Given the description of an element on the screen output the (x, y) to click on. 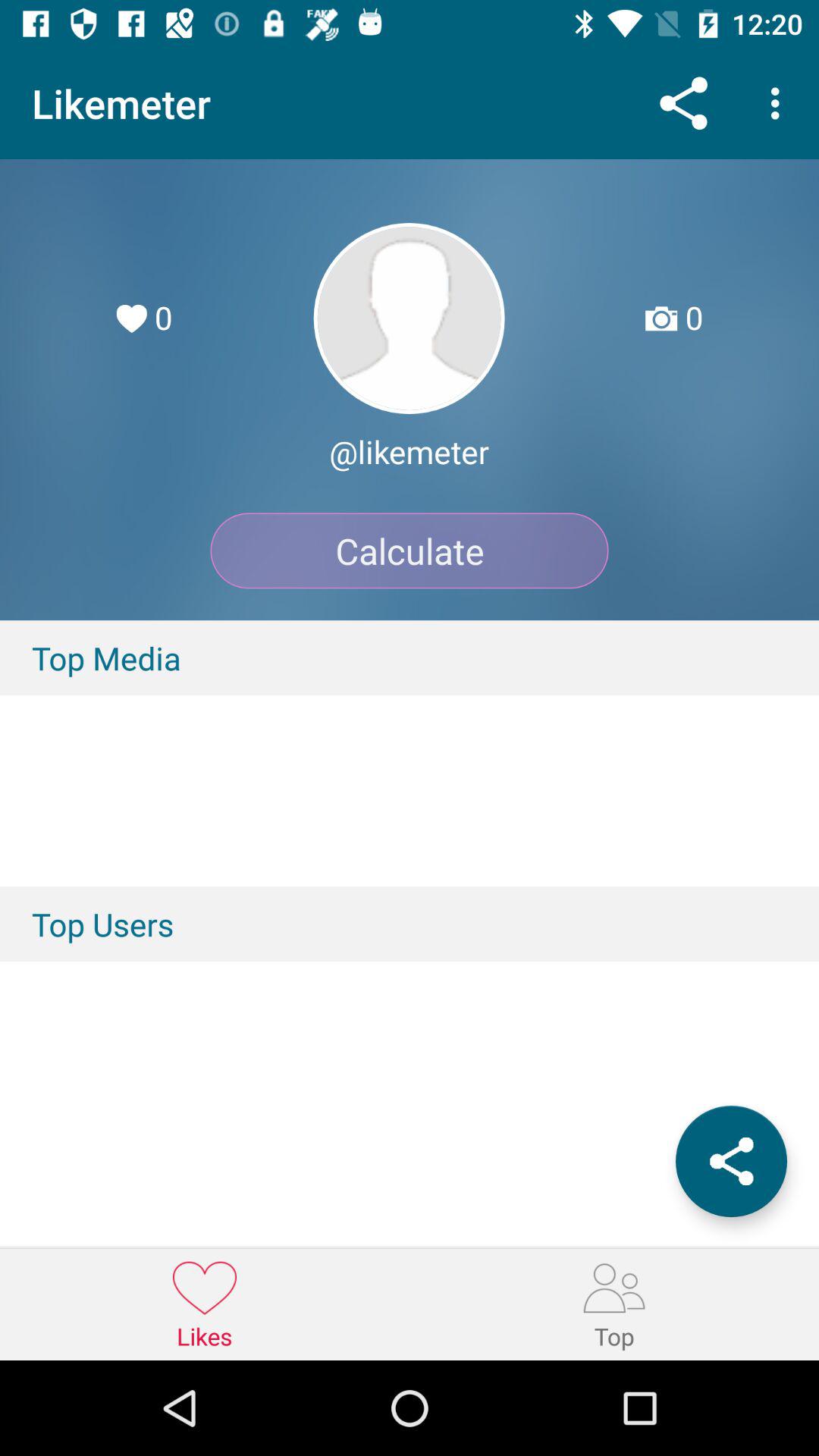
save (731, 1161)
